Given the description of an element on the screen output the (x, y) to click on. 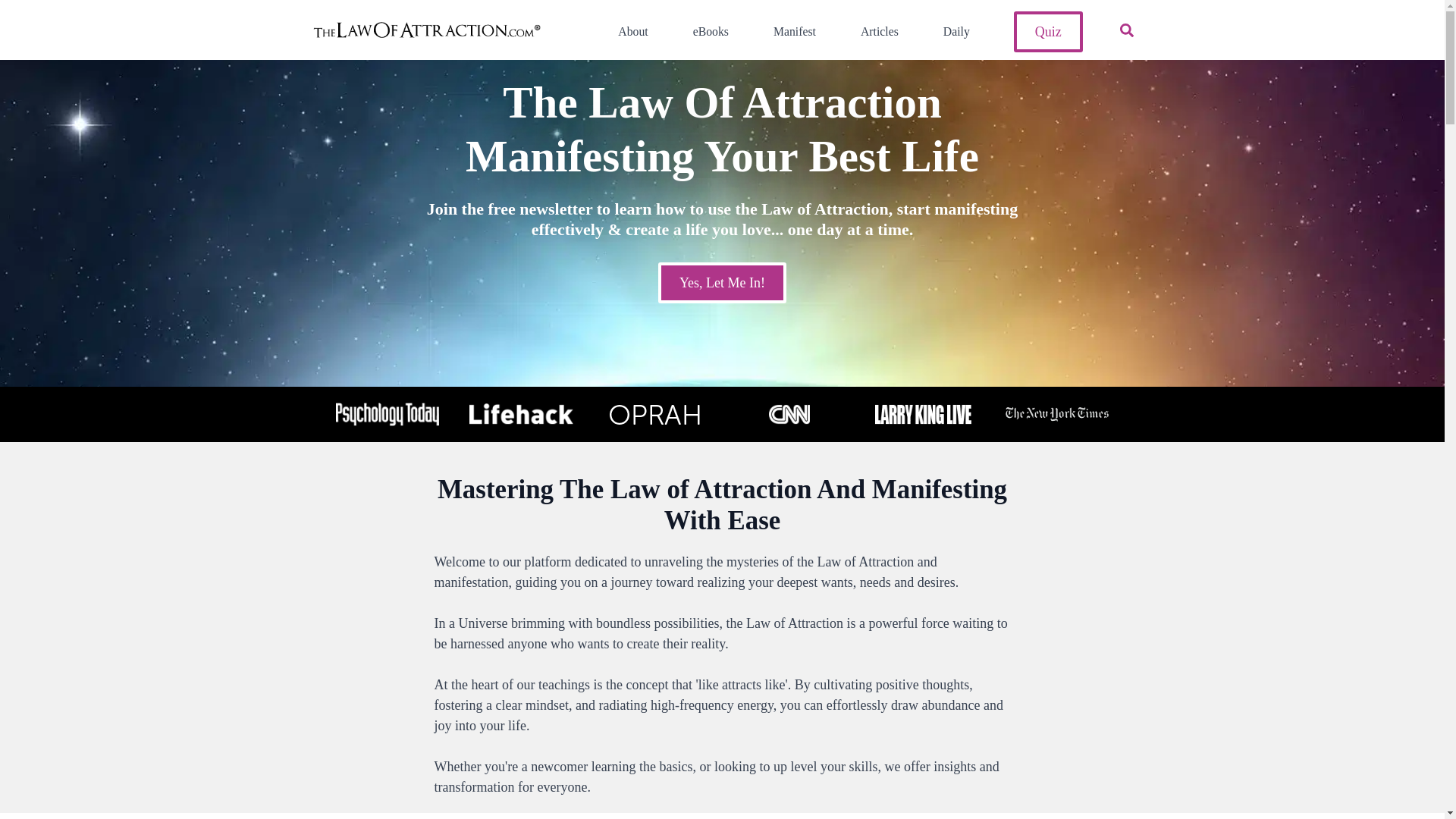
Articles (873, 31)
Manifest (788, 31)
eBooks (705, 31)
Daily (950, 31)
Yes, Let Me In! (722, 282)
Quiz (1048, 31)
About (626, 31)
